Given the description of an element on the screen output the (x, y) to click on. 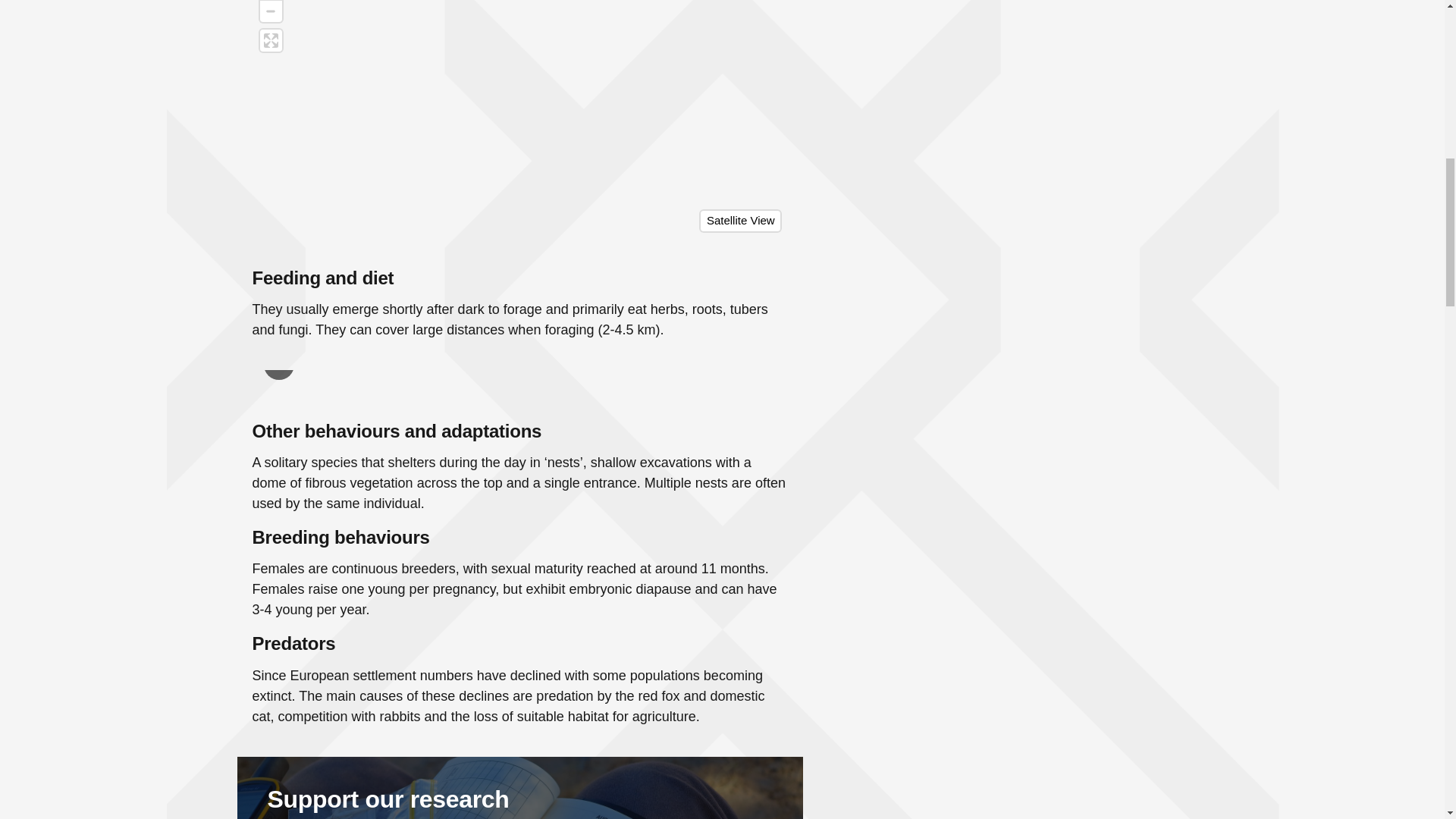
Enter fullscreen (270, 40)
Zoom out (270, 11)
